Given the description of an element on the screen output the (x, y) to click on. 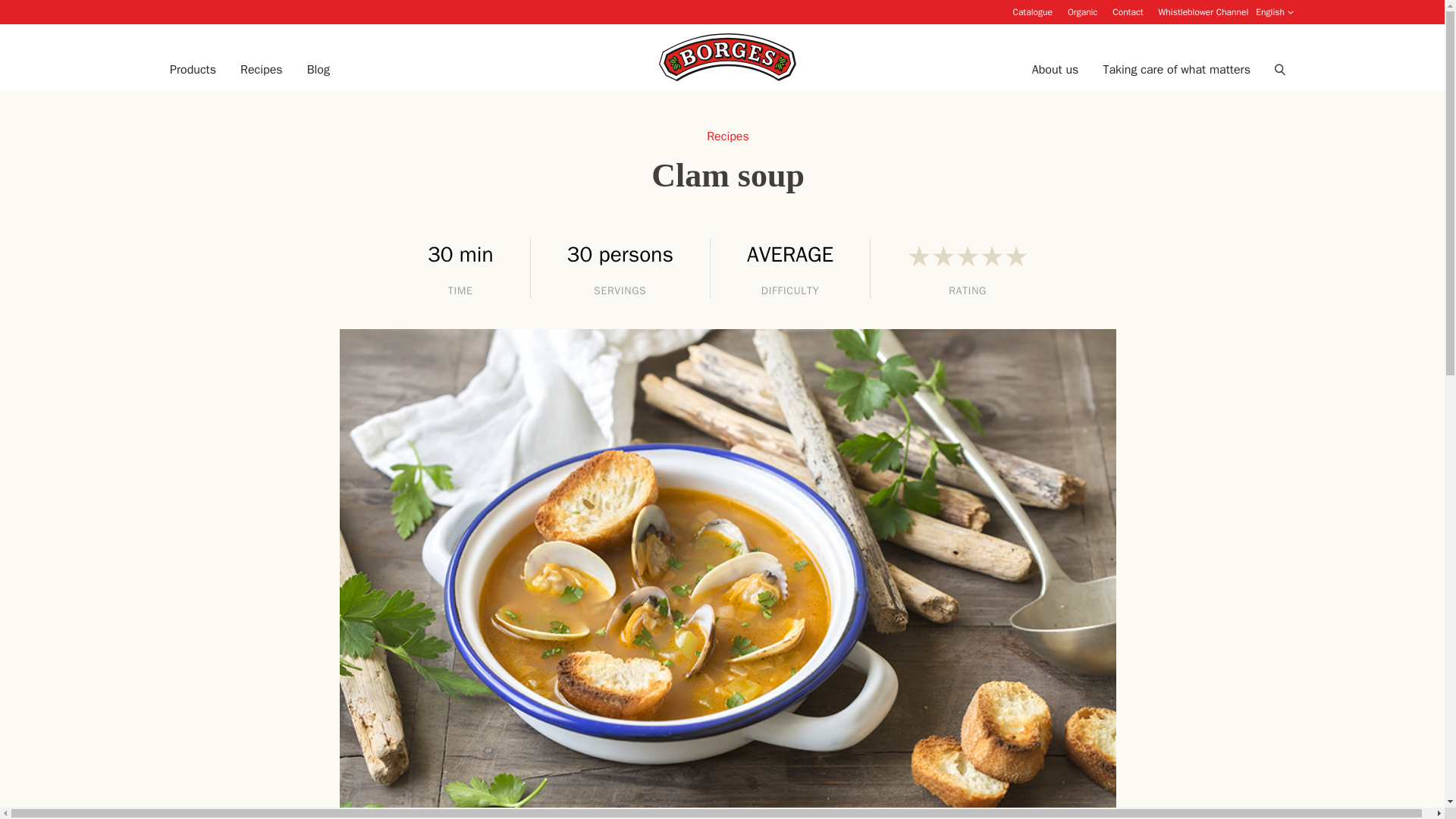
Contact (1127, 11)
Organic (1082, 11)
Recipes (261, 69)
Taking care of what matters (1176, 69)
Catalogue (1031, 11)
Products (192, 69)
About us (1055, 69)
Whistleblower Channel (1203, 11)
Blog (318, 69)
